Given the description of an element on the screen output the (x, y) to click on. 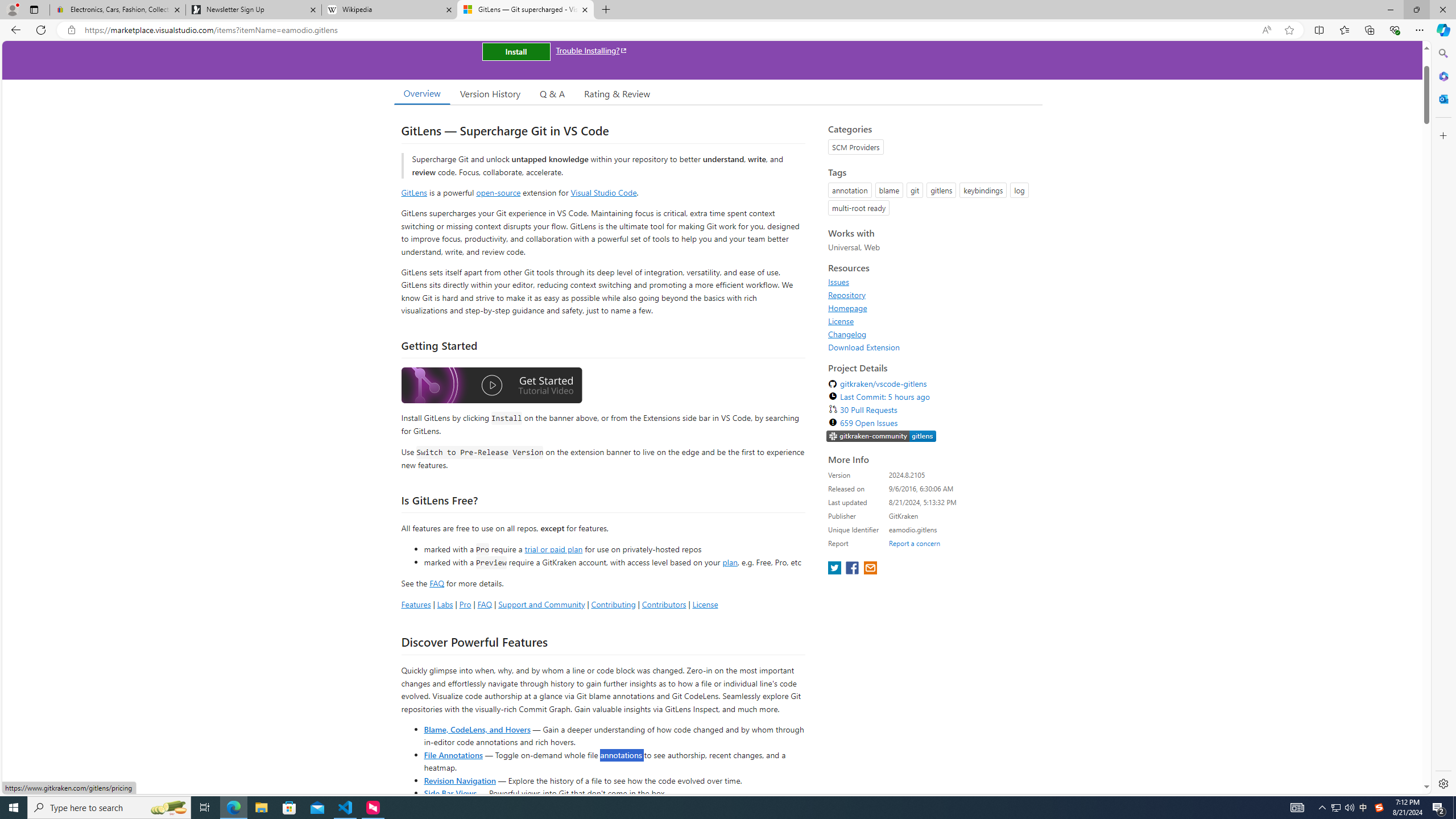
share extension on twitter (835, 568)
